Given the description of an element on the screen output the (x, y) to click on. 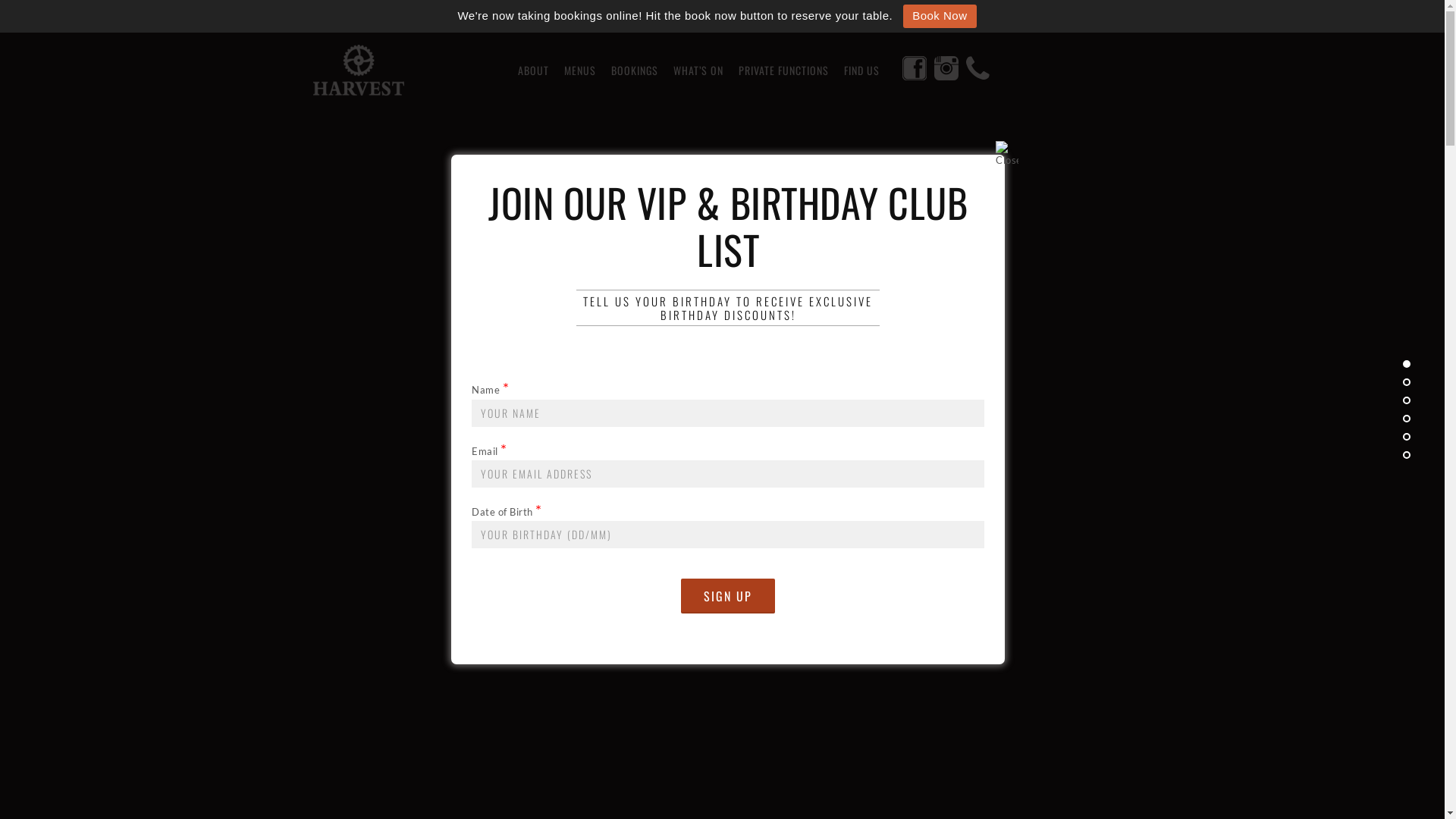
Close Element type: hover (1006, 152)
FIND US Element type: text (860, 70)
Call Harvest Cafe & Store Element type: hover (978, 70)
MENUS Element type: text (580, 70)
Book Now Element type: text (939, 16)
Sign up Element type: text (727, 595)
ABOUT Element type: text (532, 70)
BOOK NOW Element type: text (826, 601)
PRIVATE FUNCTIONS Element type: text (783, 70)
GIFT CARDS Element type: text (616, 601)
BOOKINGS Element type: text (634, 70)
